Given the description of an element on the screen output the (x, y) to click on. 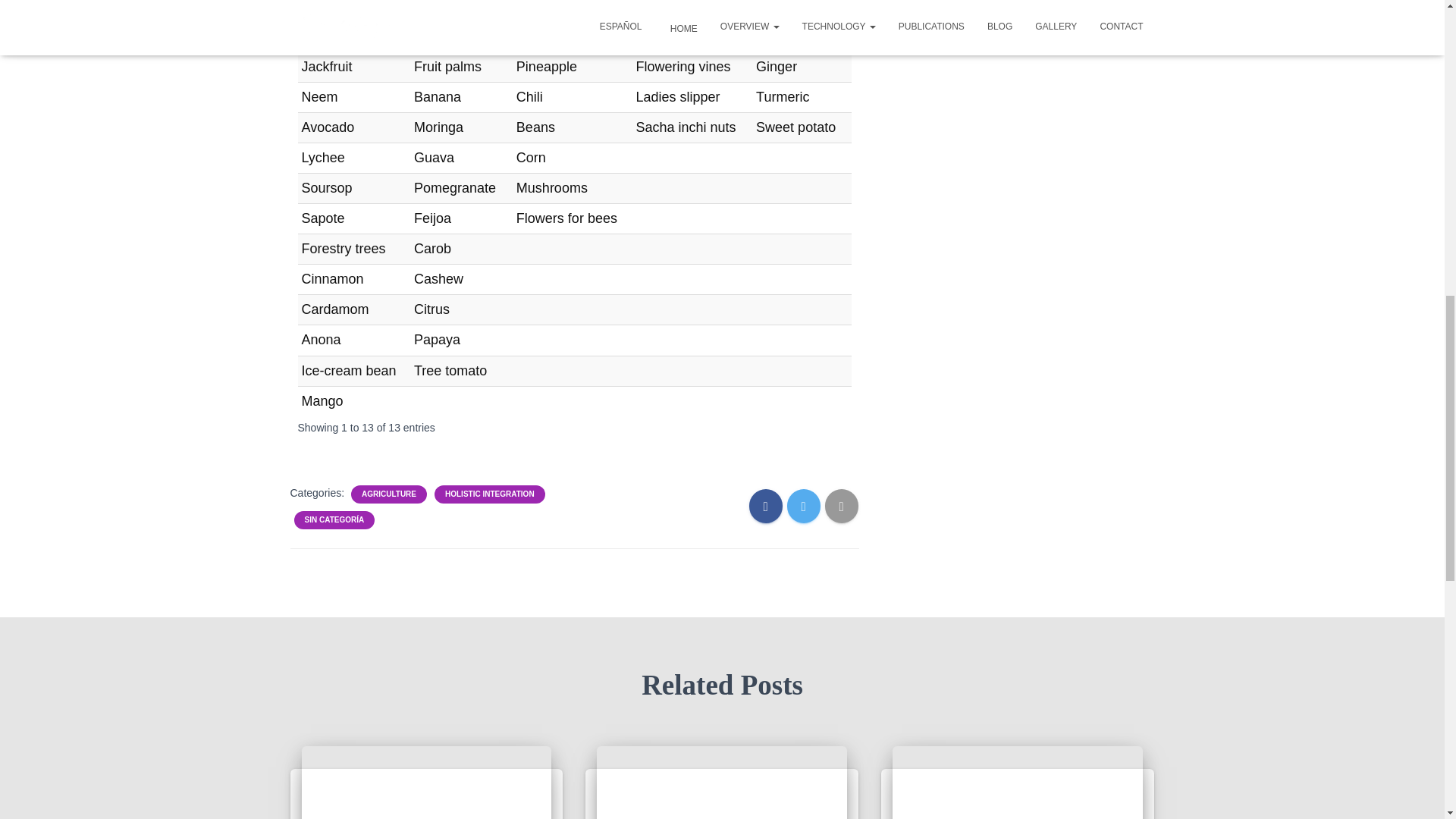
HOLISTIC INTEGRATION (489, 493)
AGRICULTURE (388, 493)
